Given the description of an element on the screen output the (x, y) to click on. 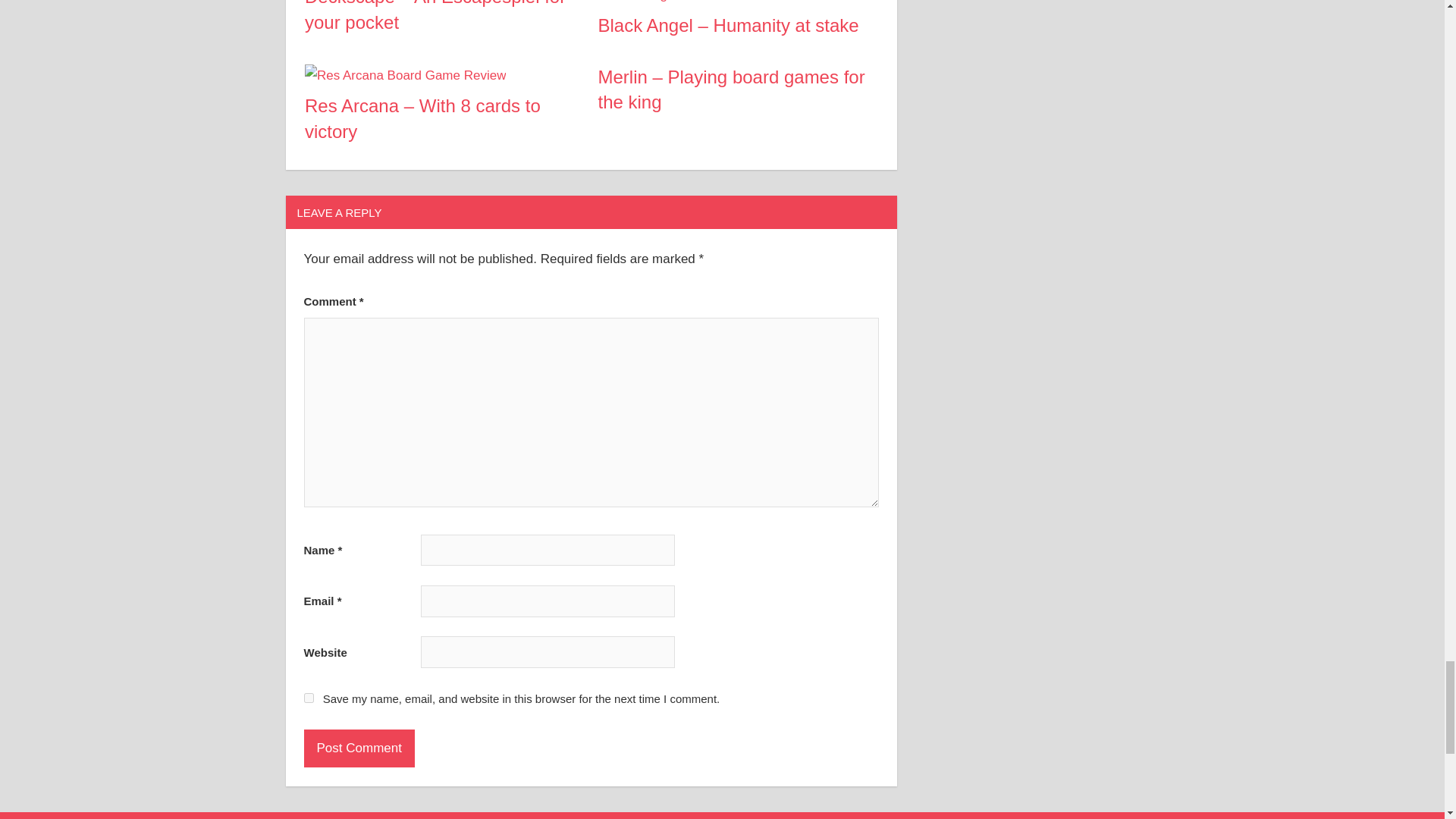
yes (307, 697)
Post Comment (357, 748)
Post Comment (357, 748)
